Given the description of an element on the screen output the (x, y) to click on. 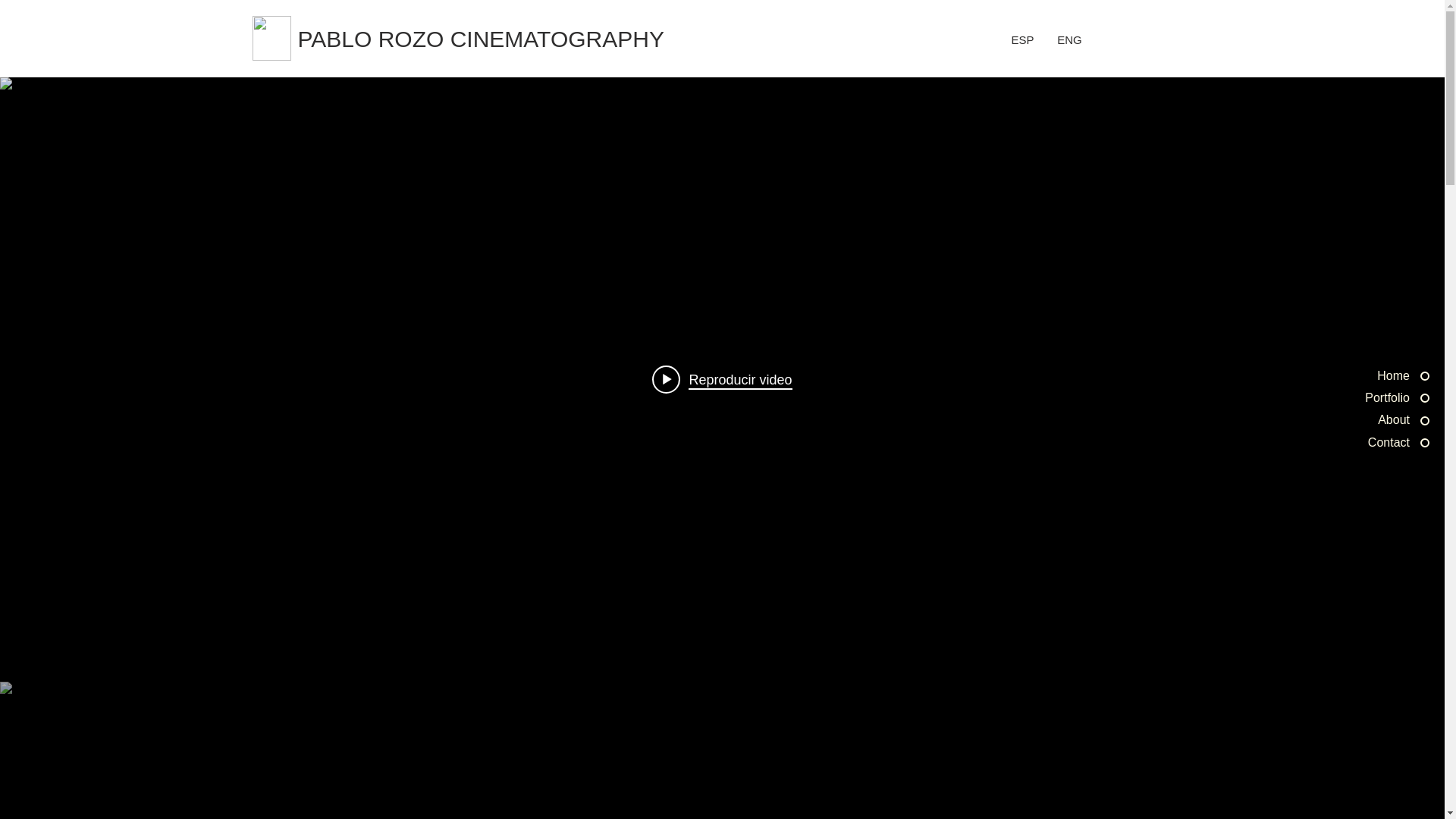
Reproducir video (722, 378)
Portfolio (1345, 397)
Home (1345, 375)
About (1345, 419)
Contact (1345, 442)
PABLO ROZO CINEMATOGRAPHY (492, 39)
ENG (1069, 39)
ESP (1022, 39)
